Given the description of an element on the screen output the (x, y) to click on. 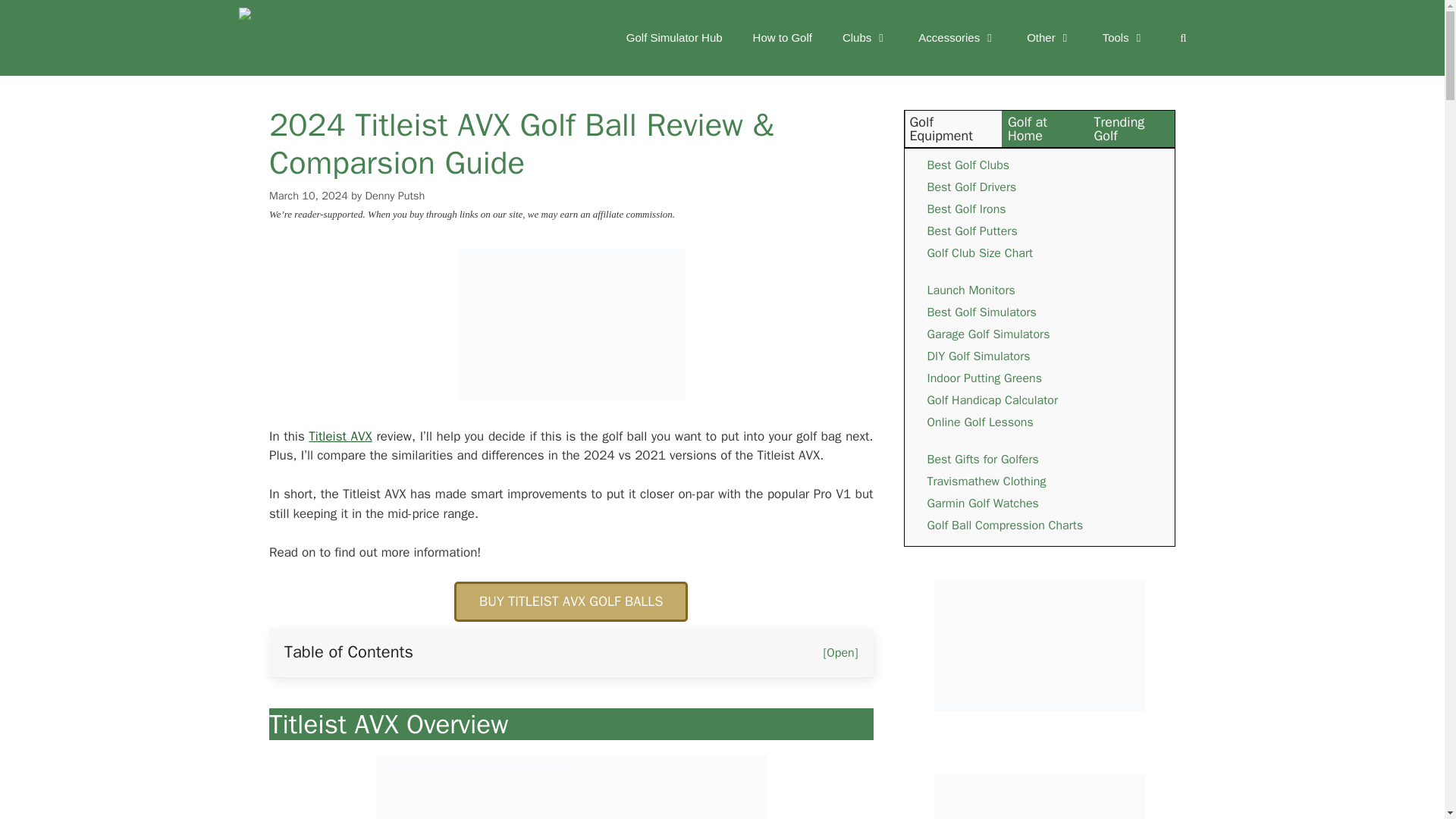
Hitting The Golf Ball (354, 38)
View all posts by Denny Putsh (395, 195)
Clubs (864, 37)
Golf Simulator Hub (674, 37)
How to Golf (782, 37)
Hitting The Golf Ball (359, 38)
BUY TITLEIST AVX GOLF BALLS (570, 601)
Tools (1123, 37)
Accessories (956, 37)
Titleist AVX (339, 436)
Other (1049, 37)
Denny Putsh (395, 195)
